Given the description of an element on the screen output the (x, y) to click on. 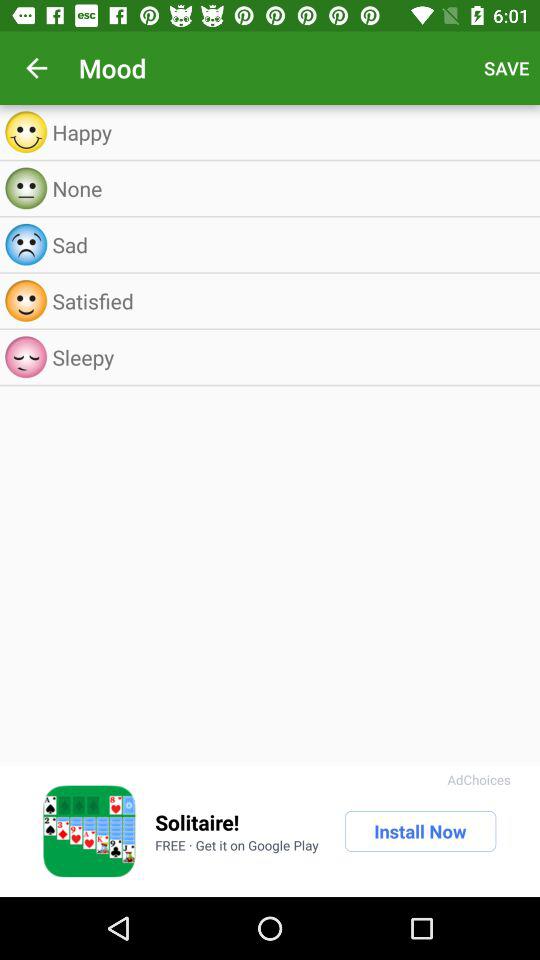
jump to the adchoices icon (478, 779)
